Given the description of an element on the screen output the (x, y) to click on. 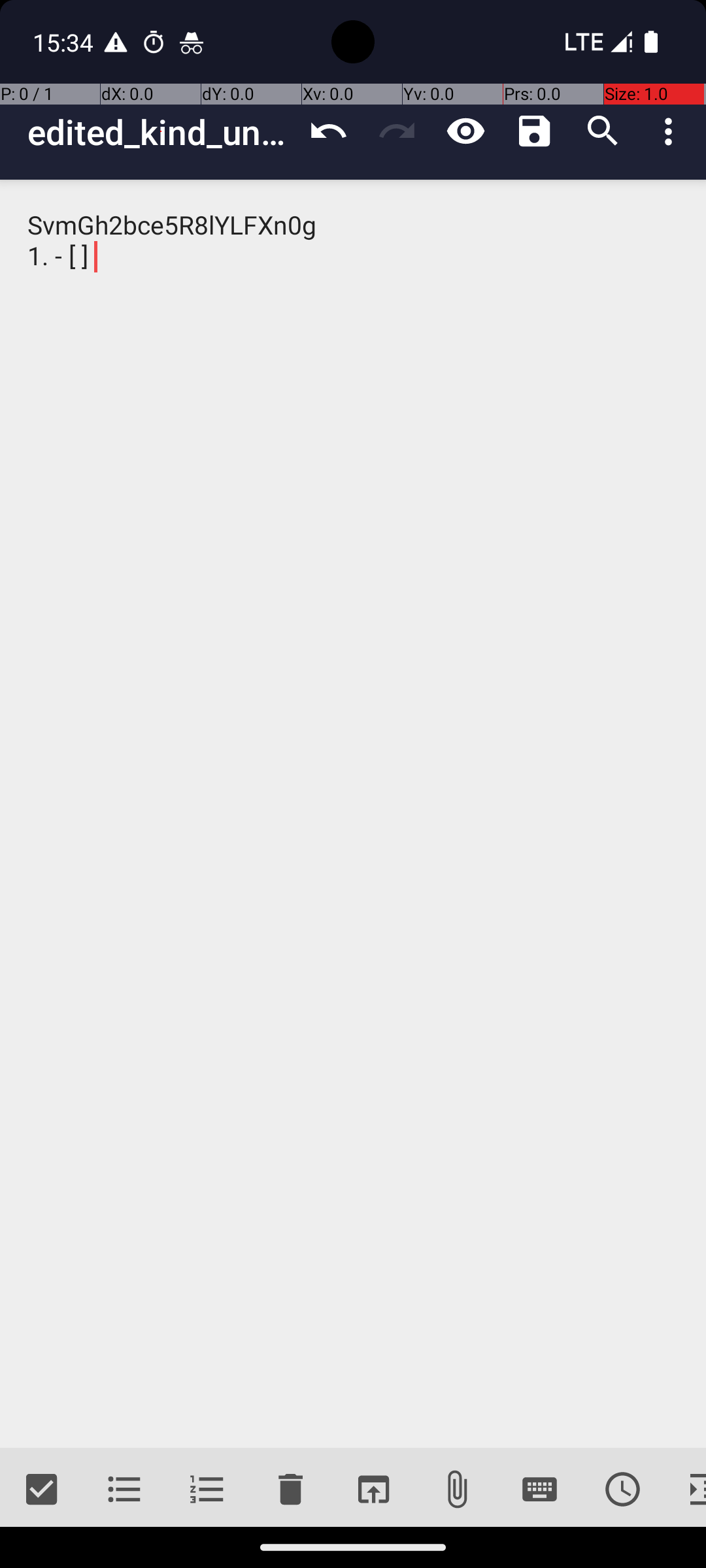
edited_kind_unicorn Element type: android.widget.TextView (160, 131)
SvmGh2bce5R8lYLFXn0g Element type: android.widget.EditText (353, 813)
Chrome notification: Incognito Tabs Element type: android.widget.ImageView (191, 41)
